Given the description of an element on the screen output the (x, y) to click on. 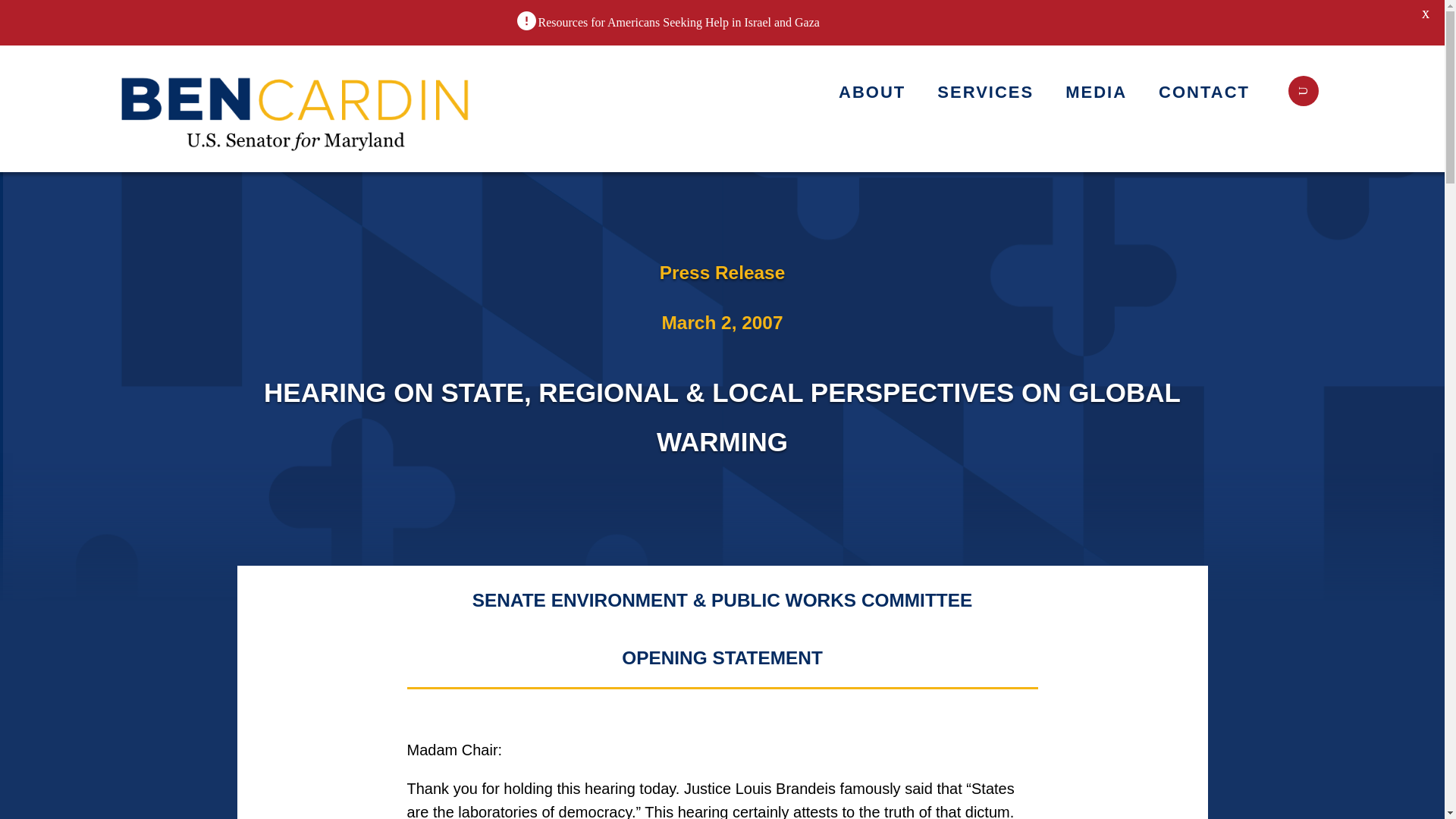
Large-Inner (296, 108)
